Given the description of an element on the screen output the (x, y) to click on. 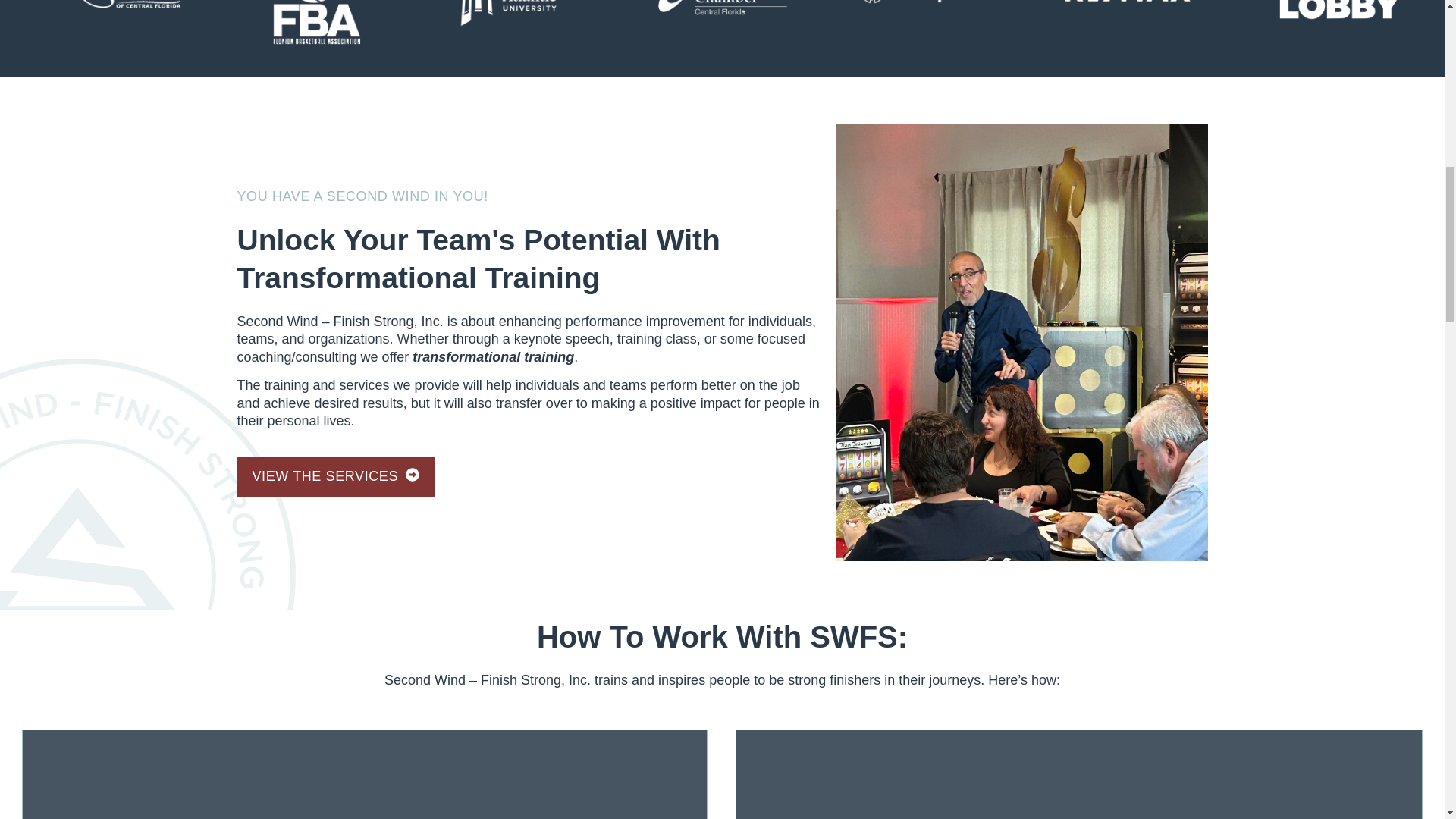
VIEW THE SERVICES (334, 476)
